Given the description of an element on the screen output the (x, y) to click on. 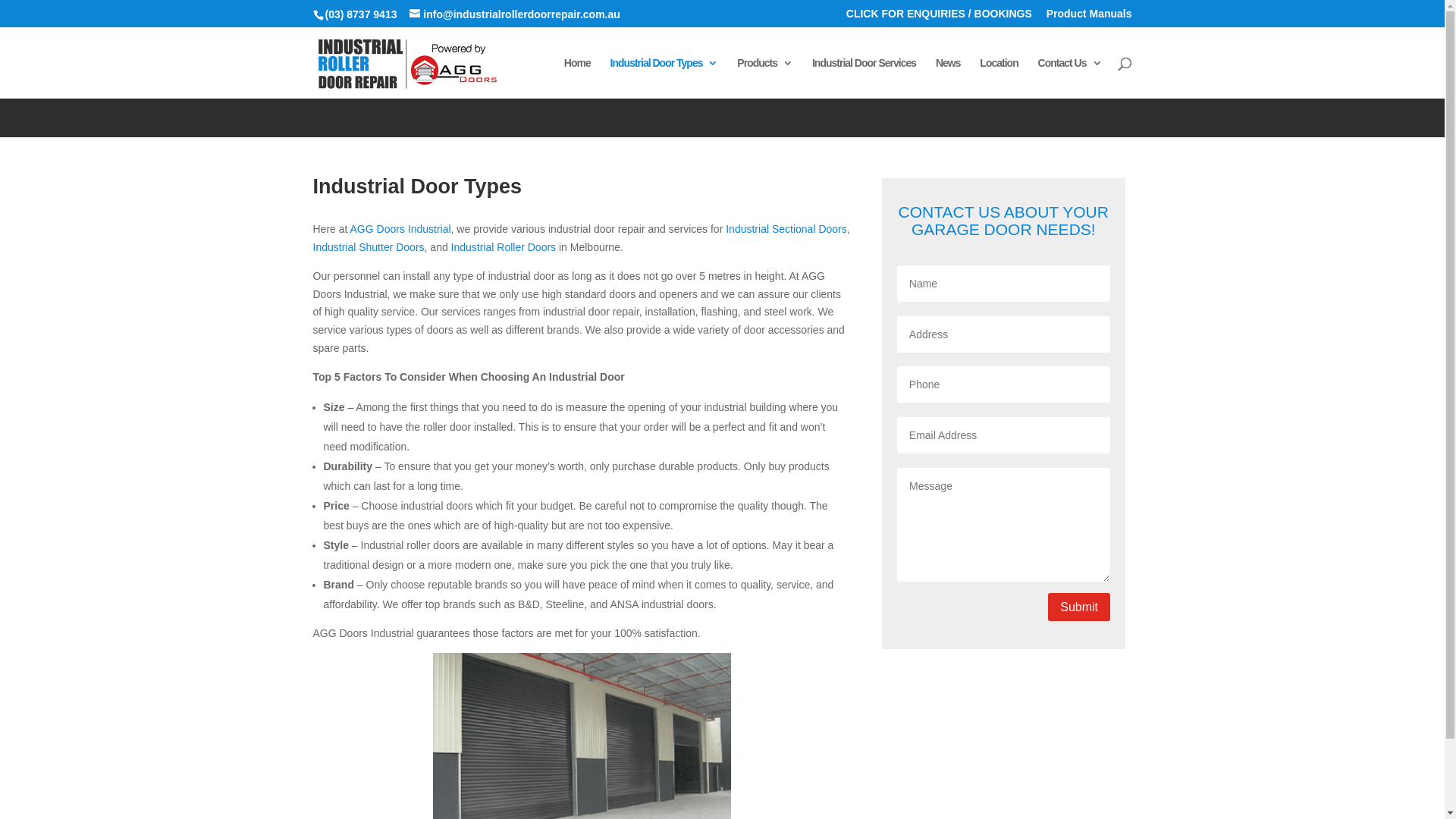
Product Manuals Element type: text (1089, 16)
Industrial Roller Doors Element type: text (503, 247)
Home Element type: text (577, 77)
Submit Element type: text (1079, 607)
Industrial Door Services Element type: text (864, 77)
Industrial Shutter Doors Element type: text (367, 247)
Industrial Door Types Element type: text (664, 77)
info@industrialrollerdoorrepair.com.au Element type: text (514, 13)
Products Element type: text (764, 77)
News Element type: text (947, 77)
Location Element type: text (998, 77)
Contact Us Element type: text (1069, 77)
Industrial Sectional Doors Element type: text (786, 228)
AGG Doors Industrial Element type: text (400, 228)
CLICK FOR ENQUIRIES / BOOKINGS Element type: text (939, 16)
